Given the description of an element on the screen output the (x, y) to click on. 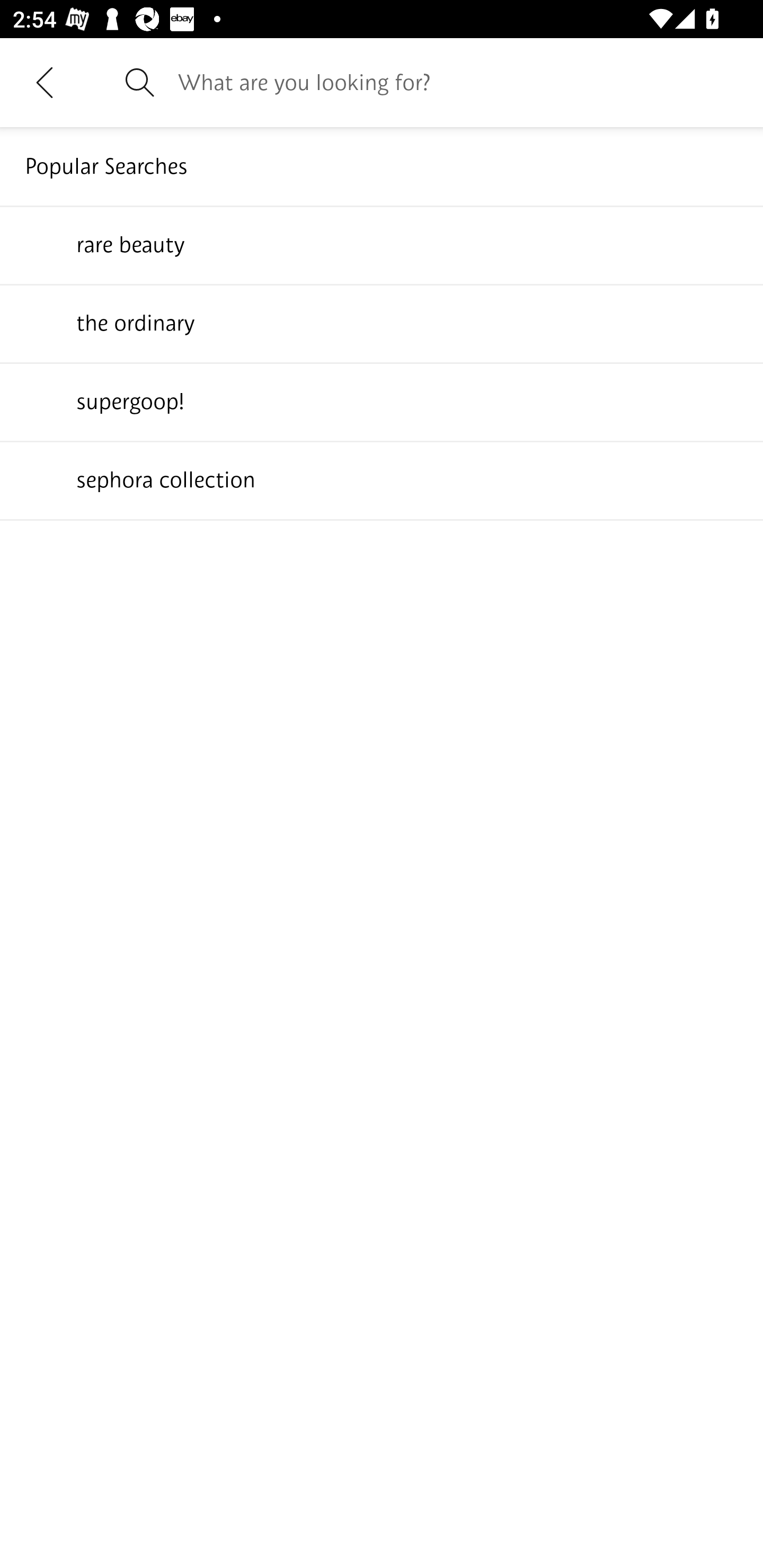
Navigate up (44, 82)
What are you looking for? (457, 82)
rare beauty (381, 244)
the ordinary (381, 322)
supergoop! (381, 401)
sephora collection (381, 479)
